Given the description of an element on the screen output the (x, y) to click on. 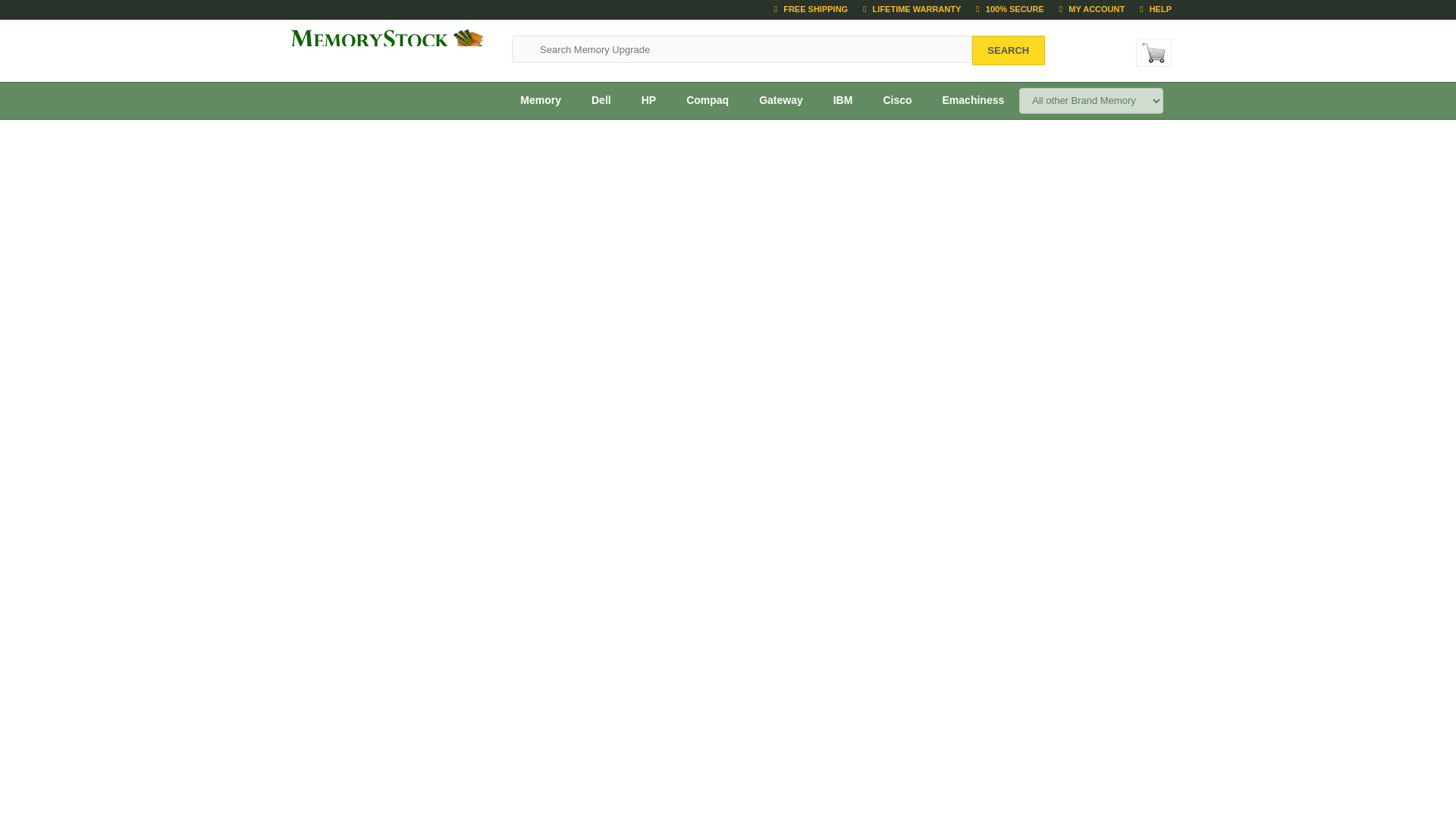
IBM (842, 100)
Memory (540, 100)
MY ACCOUNT (1091, 9)
Search (1008, 50)
Cisco (896, 100)
Emachiness (973, 100)
Shopping Cart (1153, 52)
HELP (1156, 9)
Search (1008, 50)
LIFETIME WARRANTY (911, 9)
HP (648, 100)
FREE SHIPPING (810, 9)
Search (1008, 50)
Dell (601, 100)
Compaq (707, 100)
